Given the description of an element on the screen output the (x, y) to click on. 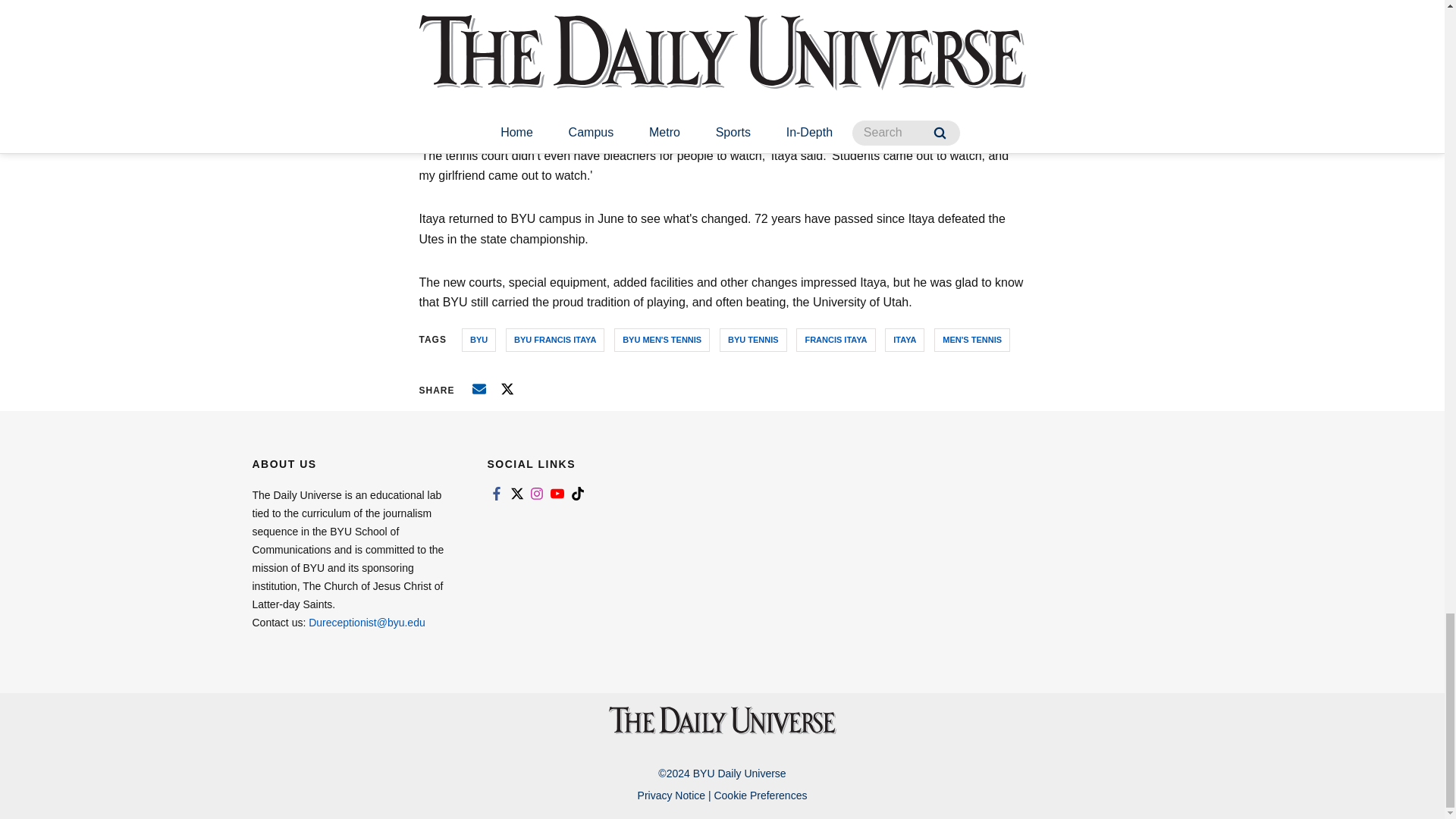
Link to instagram (536, 493)
Link to youtube (557, 493)
Link to tiktok (577, 493)
ITAYA (904, 340)
BYU FRANCIS ITAYA (554, 340)
Cookie Preferences (759, 795)
Email (478, 388)
BYU MEN'S TENNIS (662, 340)
Privacy Notice (670, 795)
MEN'S TENNIS (972, 340)
